Given the description of an element on the screen output the (x, y) to click on. 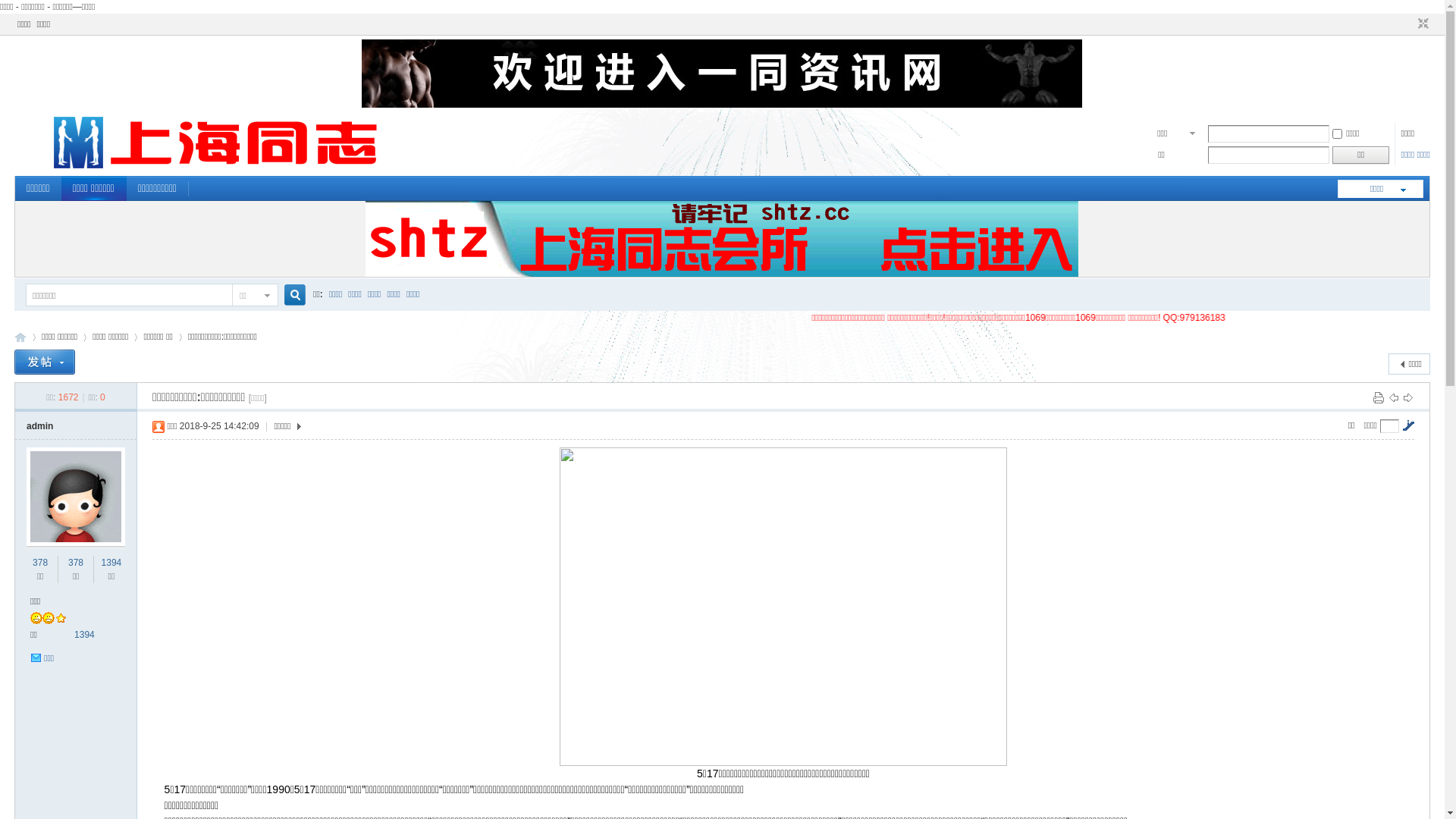
1394 Element type: text (111, 562)
admin Element type: text (39, 425)
378 Element type: text (39, 562)
378 Element type: text (75, 562)
true Element type: text (289, 295)
1394 Element type: text (84, 634)
